Given the description of an element on the screen output the (x, y) to click on. 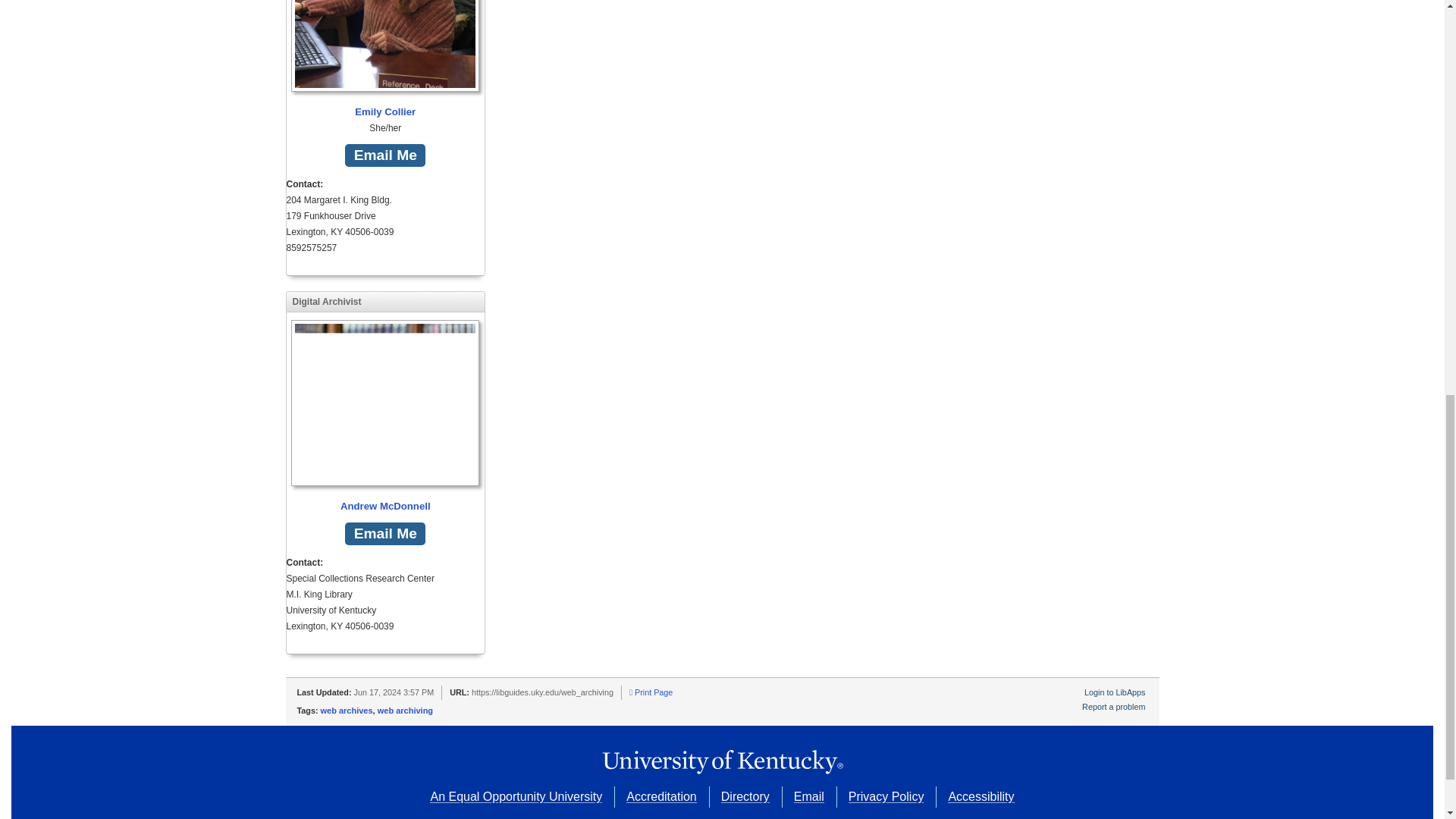
Report a problem (1112, 706)
Andrew McDonnell (385, 417)
Emily Collier (385, 60)
Email Me (385, 155)
Login to LibApps (1114, 691)
web archiving (404, 709)
web archives (346, 709)
Print Page (650, 691)
Email Me (385, 534)
